Given the description of an element on the screen output the (x, y) to click on. 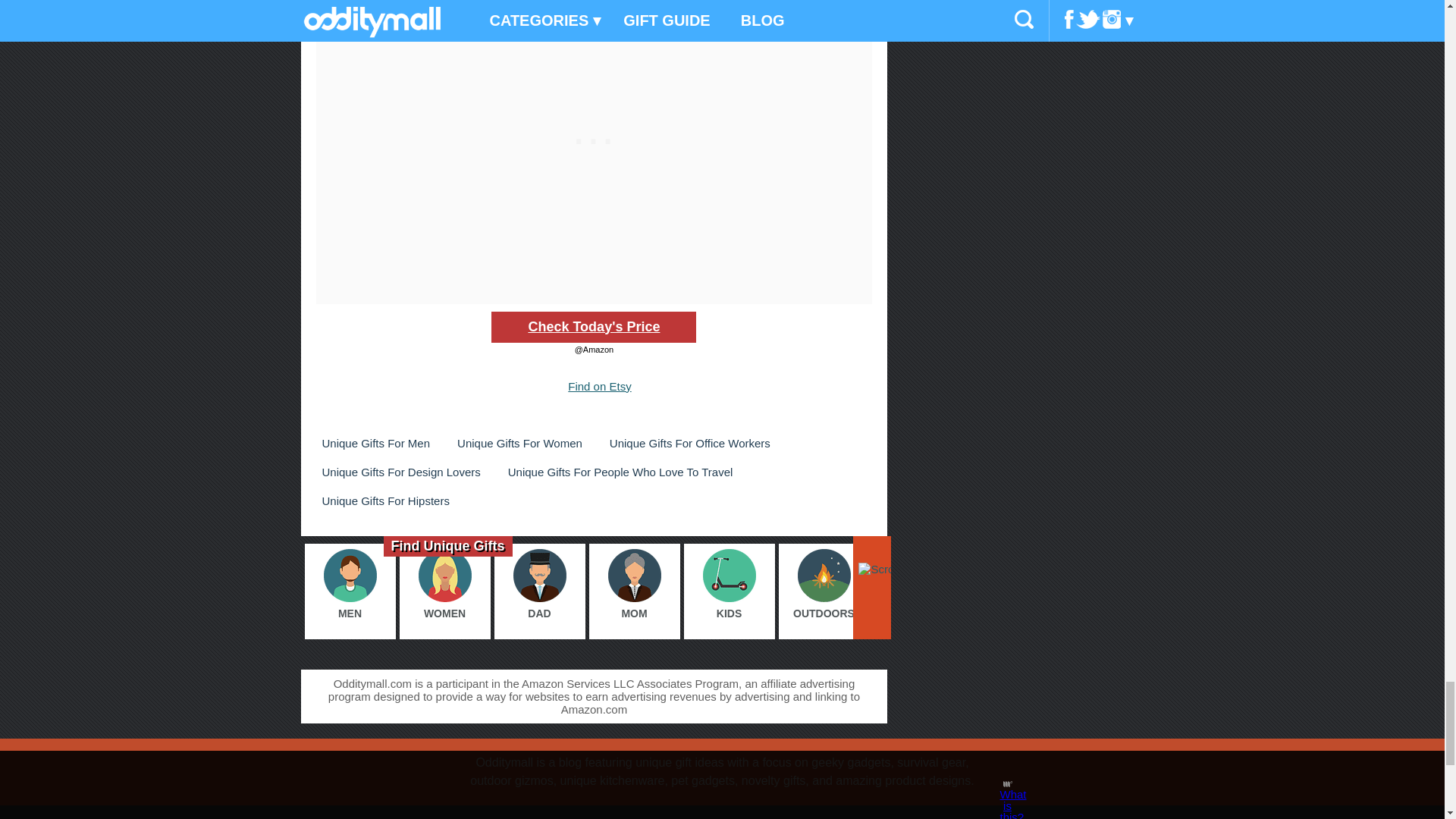
Unique Gifts For Design Lovers (400, 471)
Unique Gifts For Women (519, 443)
Unique Gifts For Design Lovers (400, 471)
Unique Gifts For Women (519, 443)
Unique Gifts For People Who Love To Travel (620, 471)
Unique Gifts For Men (375, 443)
Unique Gifts For Office Workers (690, 443)
Unique Gifts For Hipsters (384, 500)
Check Today's Price (593, 327)
Find on Etsy (598, 386)
Unique Gifts For Men (375, 443)
Unique Gifts For Office Workers (690, 443)
